Given the description of an element on the screen output the (x, y) to click on. 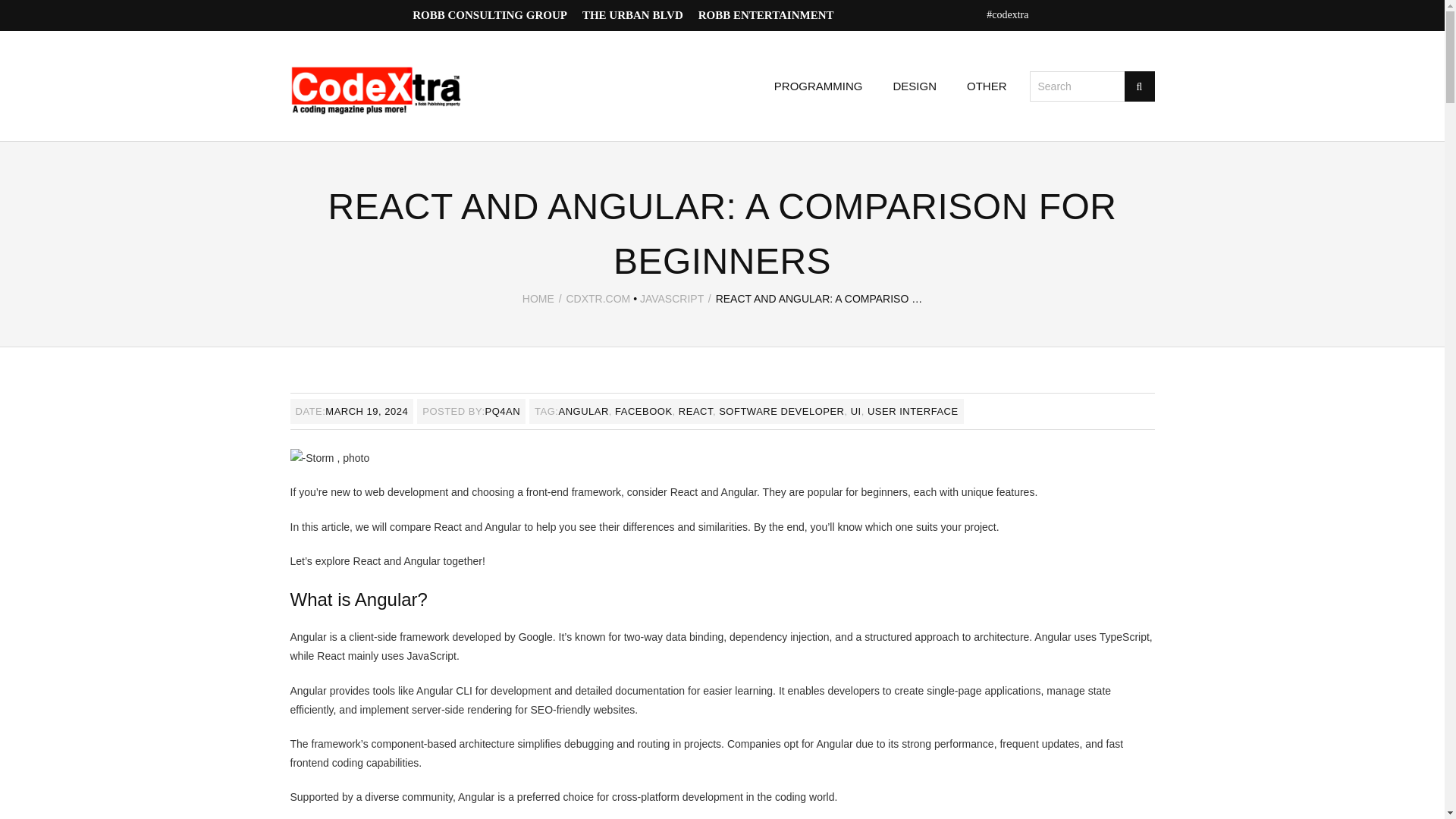
PROGRAMMING (817, 85)
View all posts by pq4an (502, 410)
ROBB ENTERTAINMENT (765, 15)
THE URBAN BLVD (632, 15)
ROBB CONSULTING GROUP (489, 15)
React and Angular: A Comparison for Beginners (365, 410)
